Given the description of an element on the screen output the (x, y) to click on. 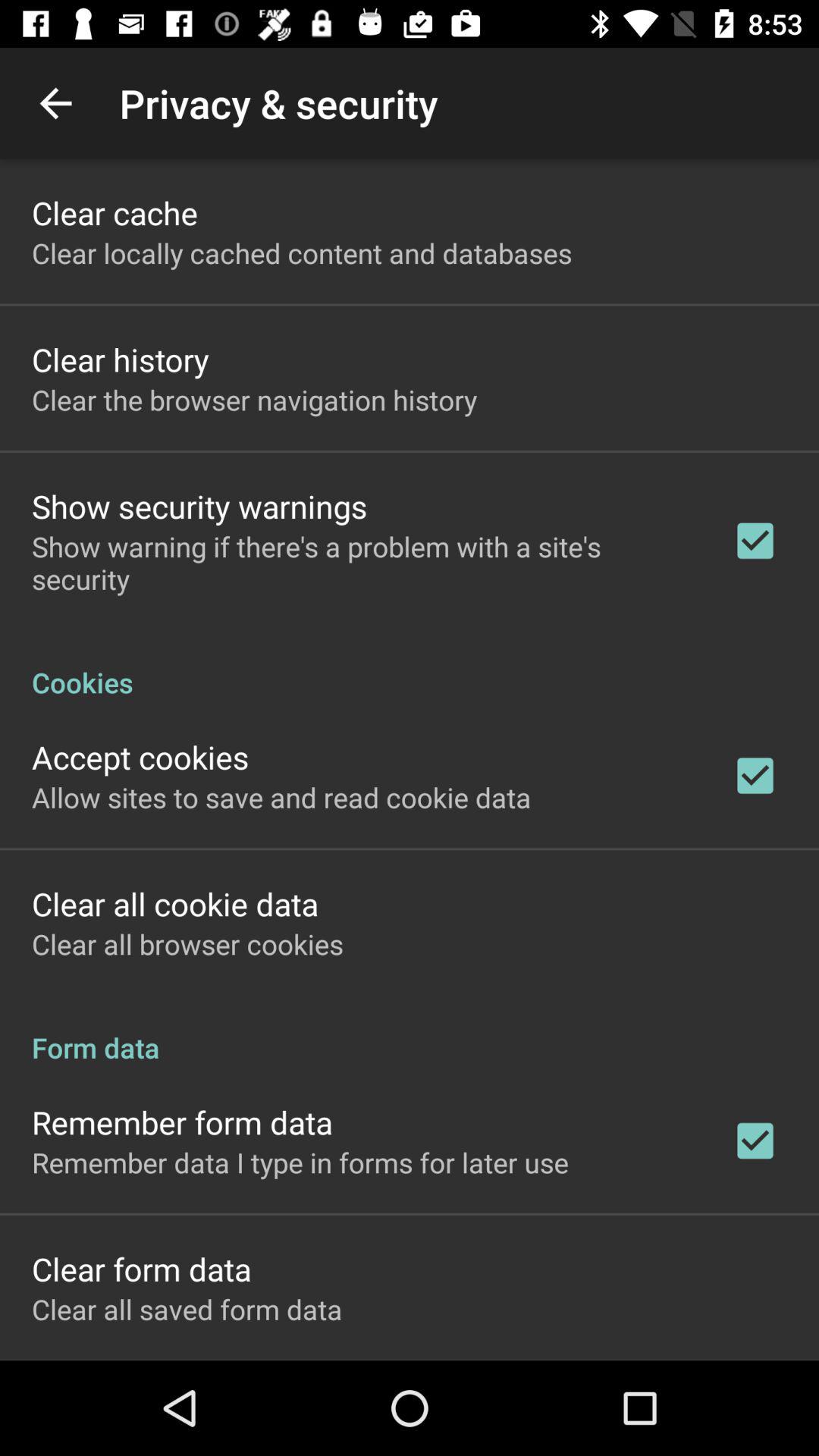
choose clear locally cached (301, 252)
